Given the description of an element on the screen output the (x, y) to click on. 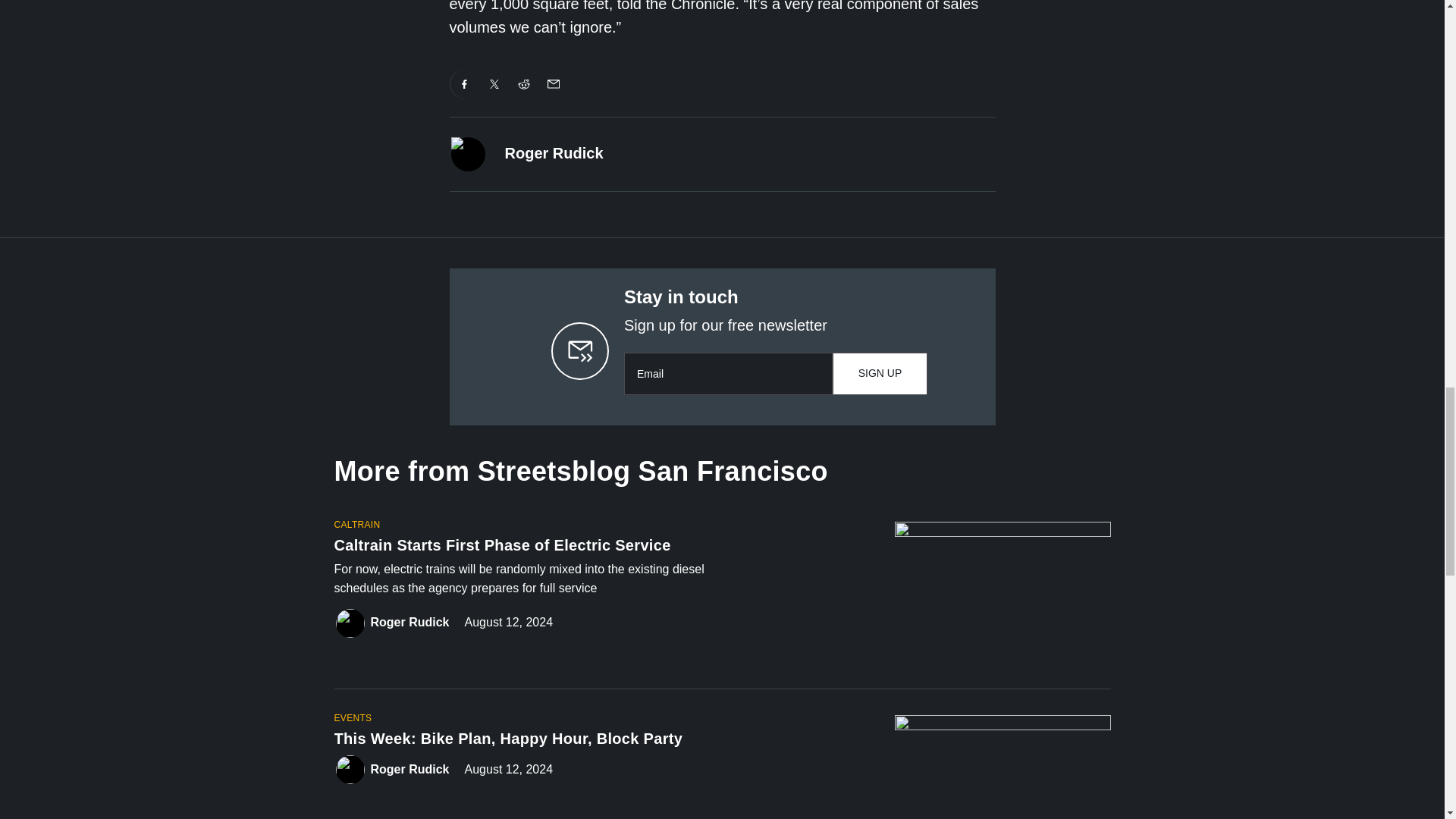
Share on Facebook (464, 83)
Share on Email (552, 83)
SIGN UP (879, 373)
Share on Reddit (523, 83)
Roger Rudick (554, 153)
